Given the description of an element on the screen output the (x, y) to click on. 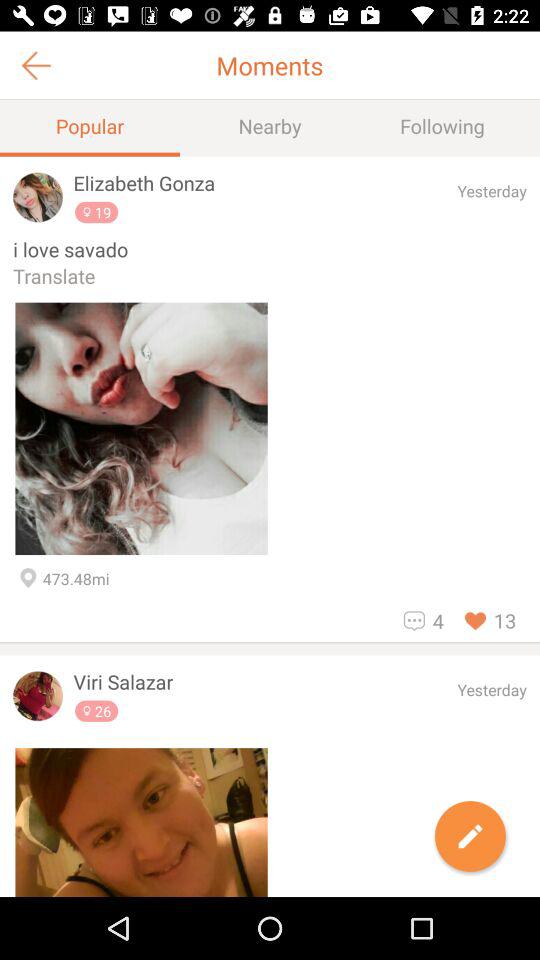
open profile page (38, 696)
